Given the description of an element on the screen output the (x, y) to click on. 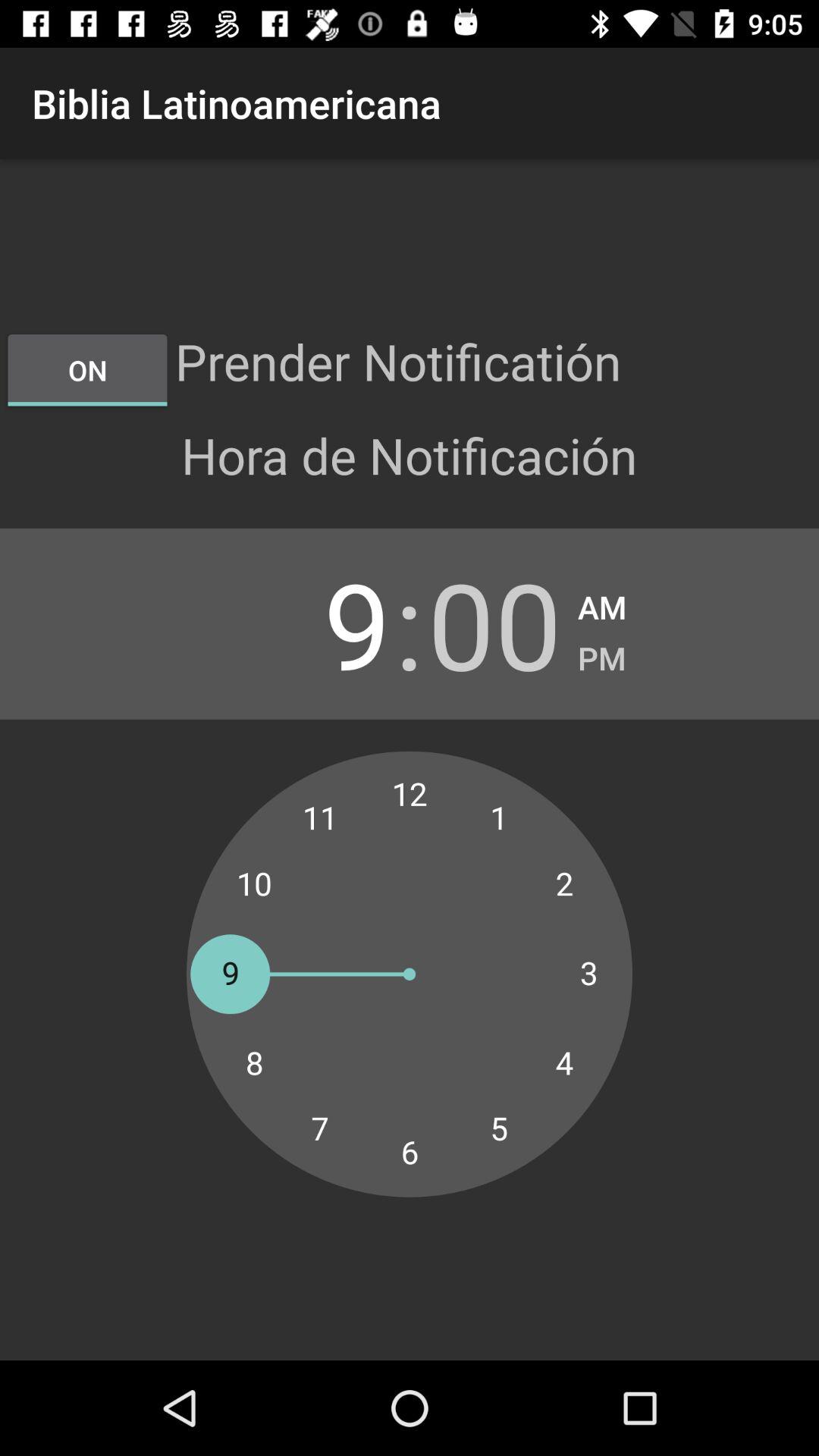
open app next to 00 item (601, 602)
